Given the description of an element on the screen output the (x, y) to click on. 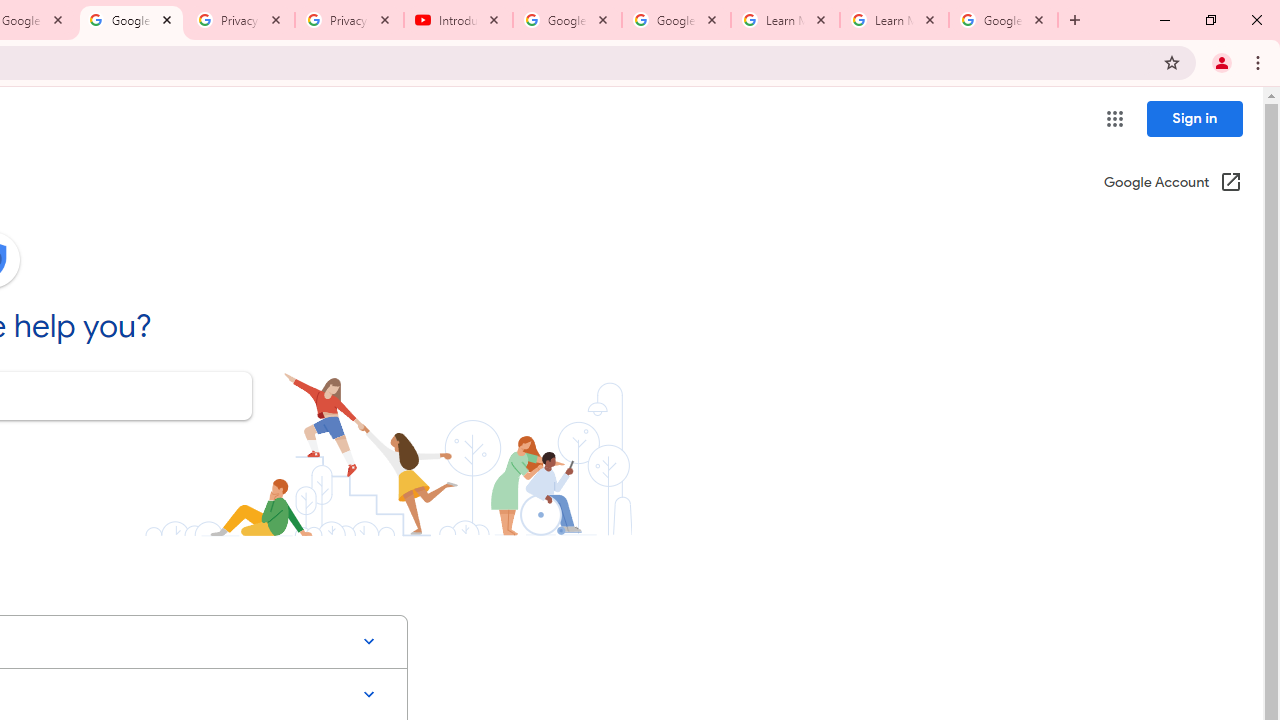
Google Account Help (676, 20)
